Given the description of an element on the screen output the (x, y) to click on. 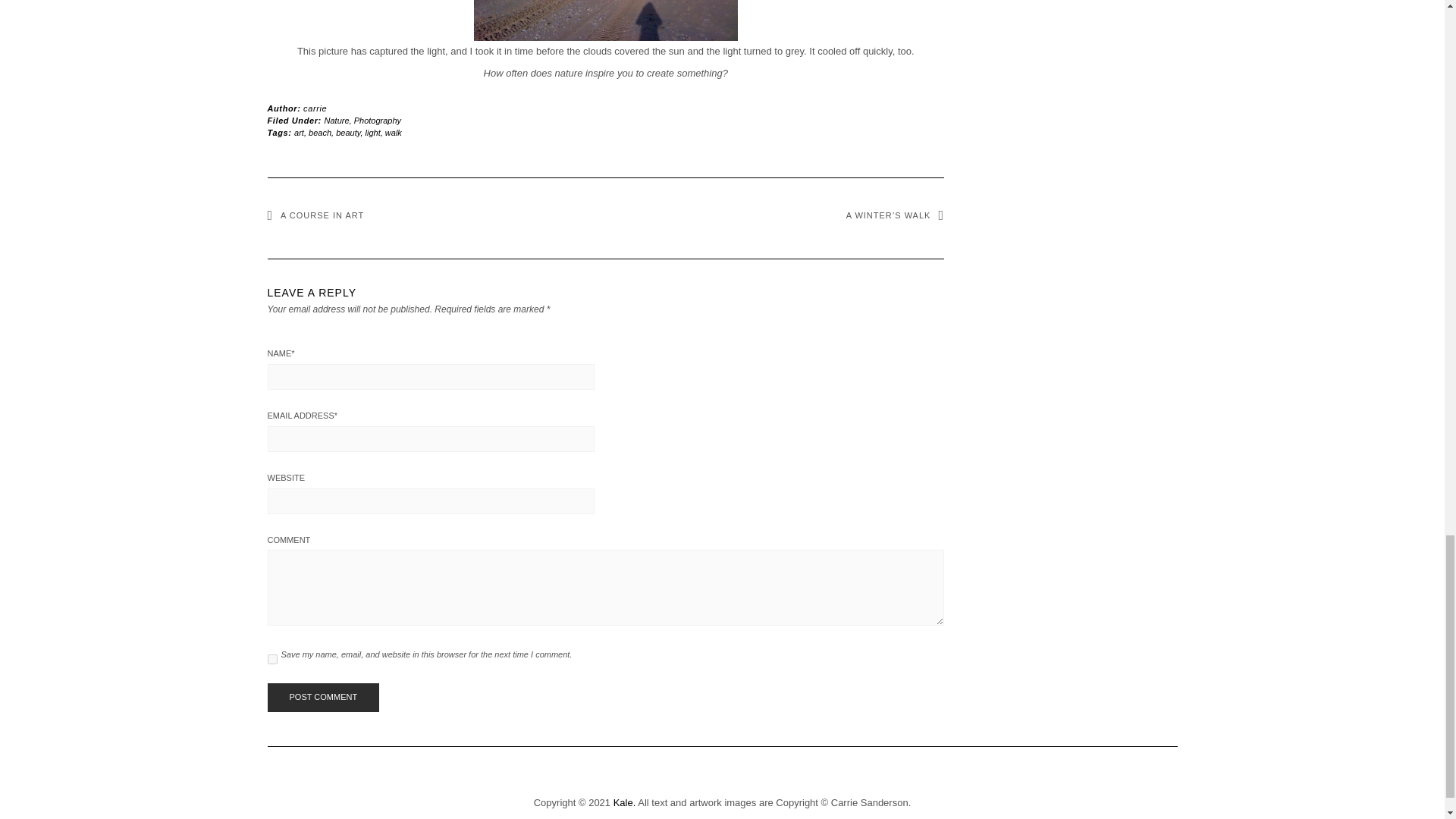
beauty (347, 132)
art (299, 132)
beach (319, 132)
Nature (336, 120)
Post Comment (322, 697)
carrie (314, 108)
Photography (377, 120)
Post Comment (322, 697)
A COURSE IN ART (315, 215)
yes (271, 659)
walk (393, 132)
light (372, 132)
Posts by carrie (314, 108)
